Given the description of an element on the screen output the (x, y) to click on. 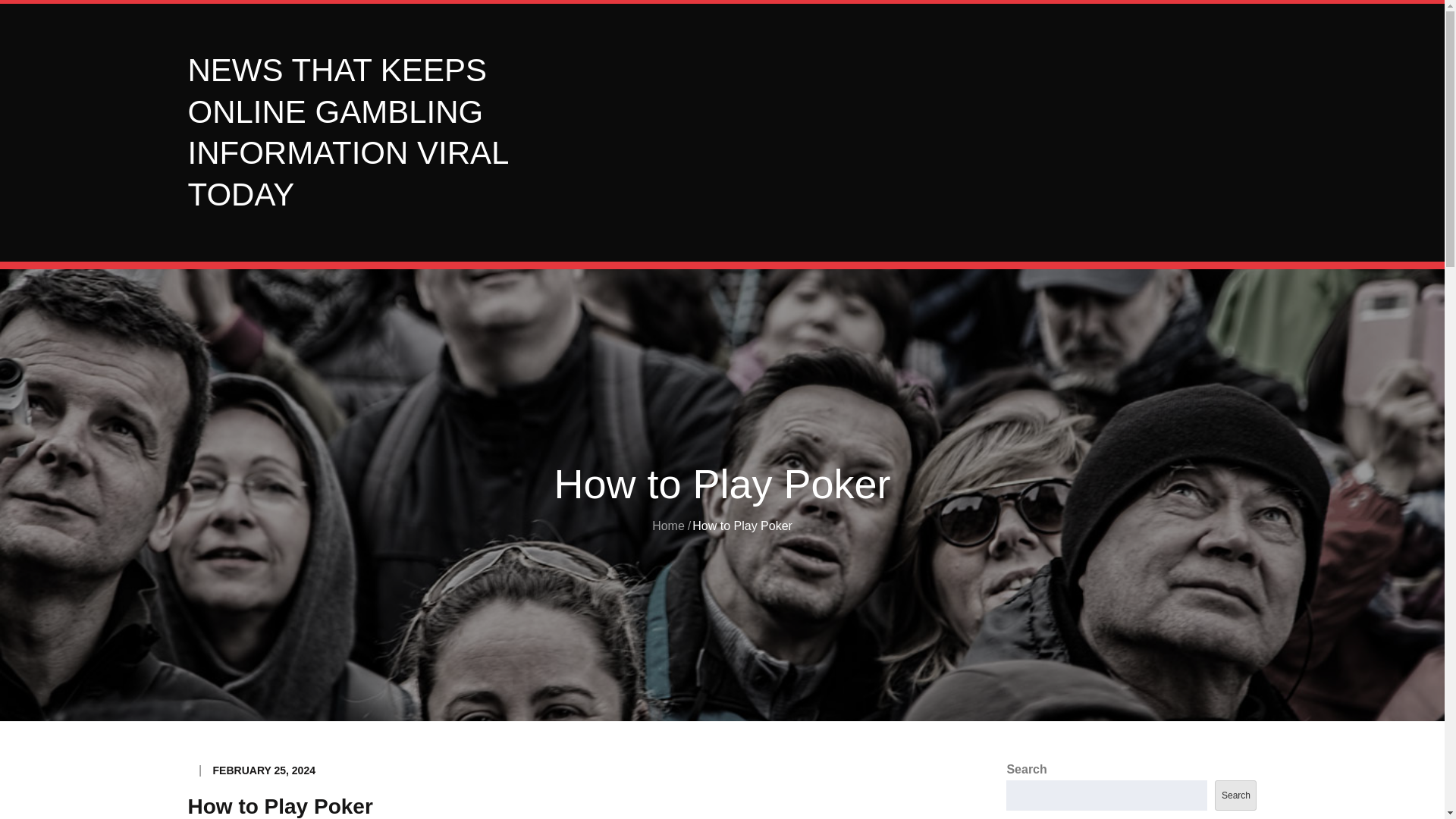
Search (1235, 795)
Home (668, 525)
NEWS THAT KEEPS ONLINE GAMBLING INFORMATION VIRAL TODAY (347, 132)
FEBRUARY 25, 2024 (263, 770)
